Given the description of an element on the screen output the (x, y) to click on. 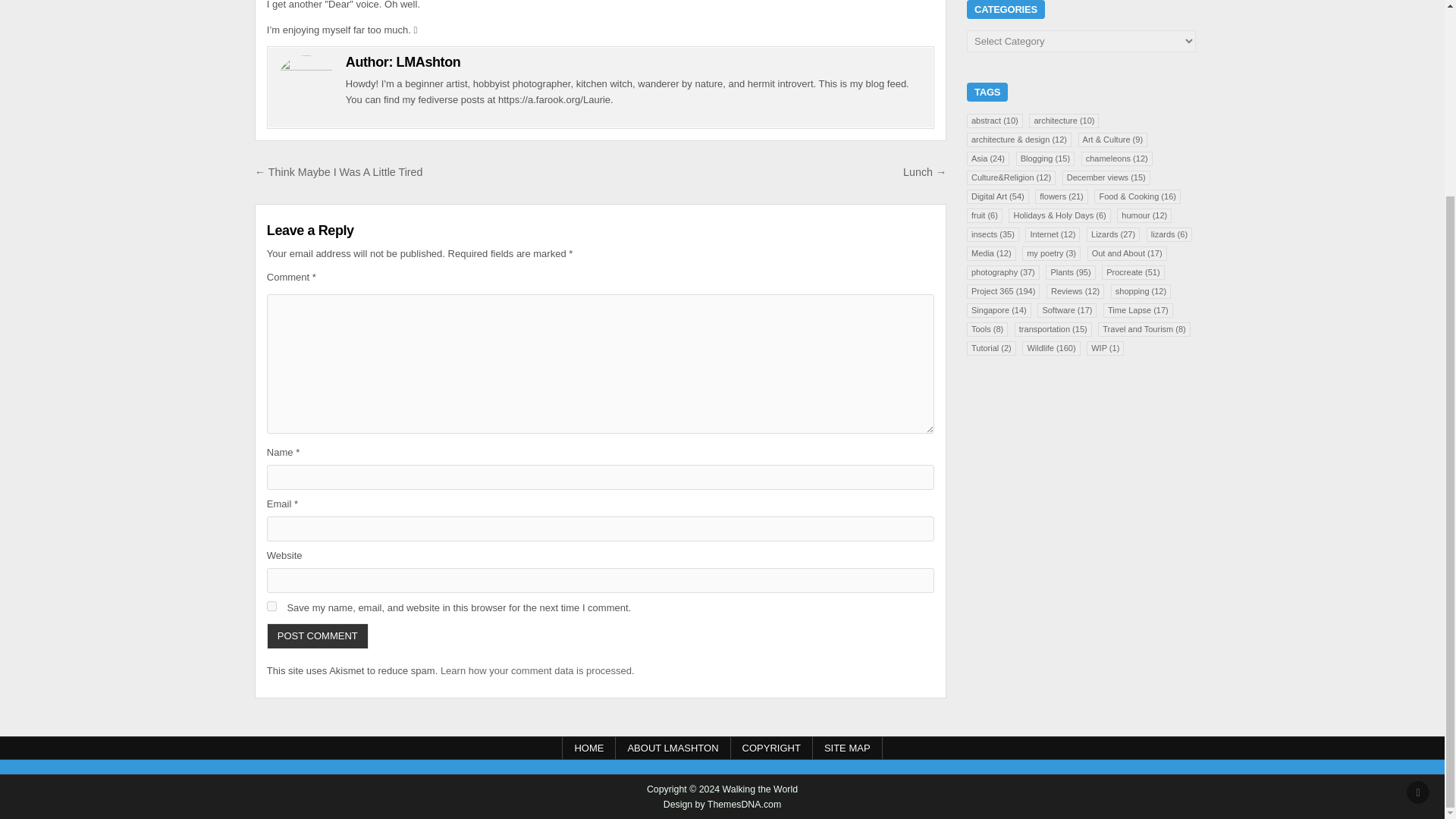
LMAshton (428, 61)
Scroll to Top (1417, 544)
Post Comment (317, 635)
Post Comment (317, 635)
SCROLL TO TOP (1417, 544)
yes (271, 605)
Learn how your comment data is processed (536, 670)
